Given the description of an element on the screen output the (x, y) to click on. 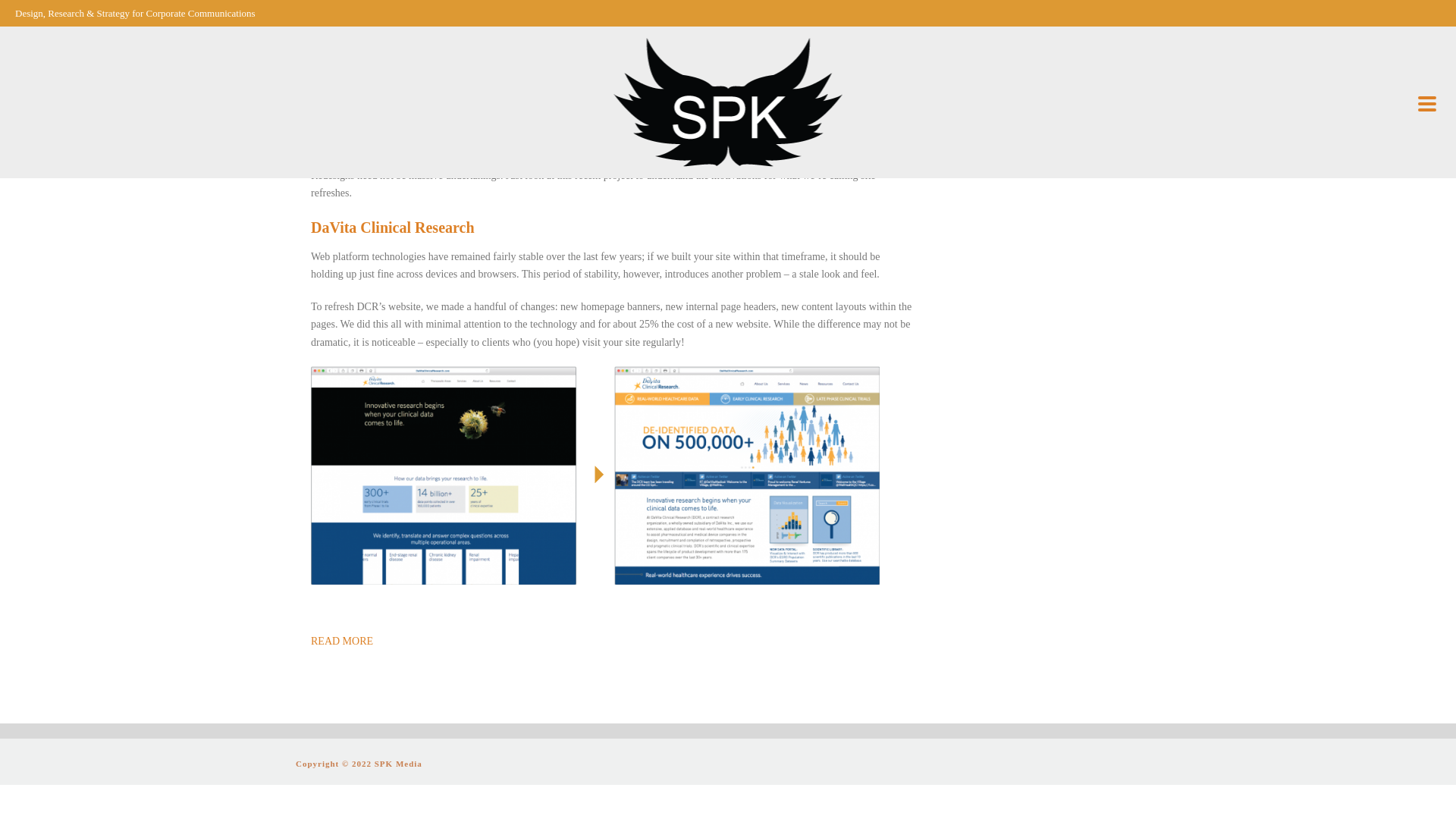
Before and After (376, 147)
Design, Research and Strategy for Corporate Communications (728, 102)
READ MORE (341, 641)
